Given the description of an element on the screen output the (x, y) to click on. 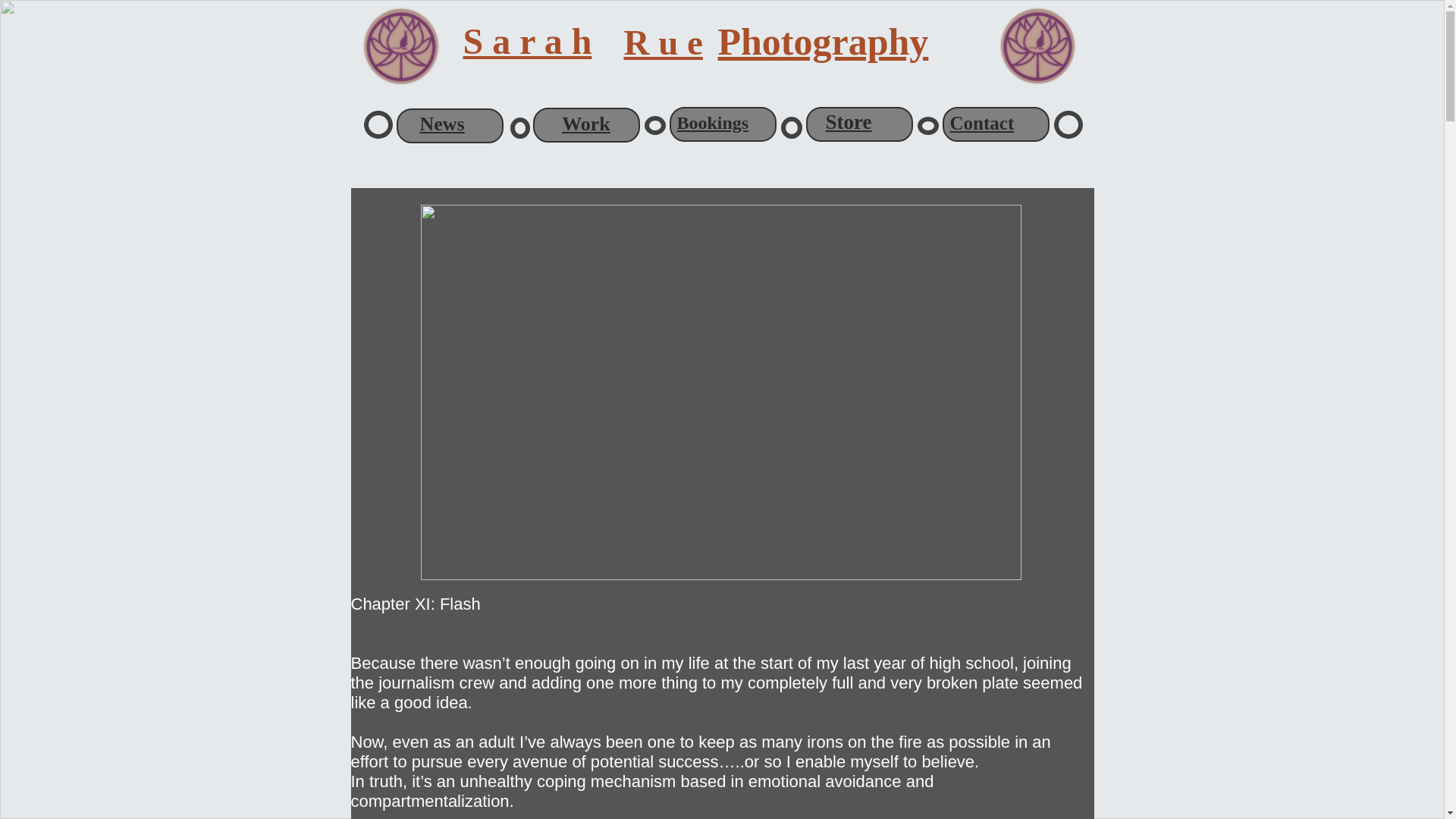
S a r a h (527, 41)
Bookings (712, 122)
R u e (662, 42)
Contact (981, 122)
Store (847, 121)
News (442, 124)
Work (586, 123)
Photography (822, 41)
